Given the description of an element on the screen output the (x, y) to click on. 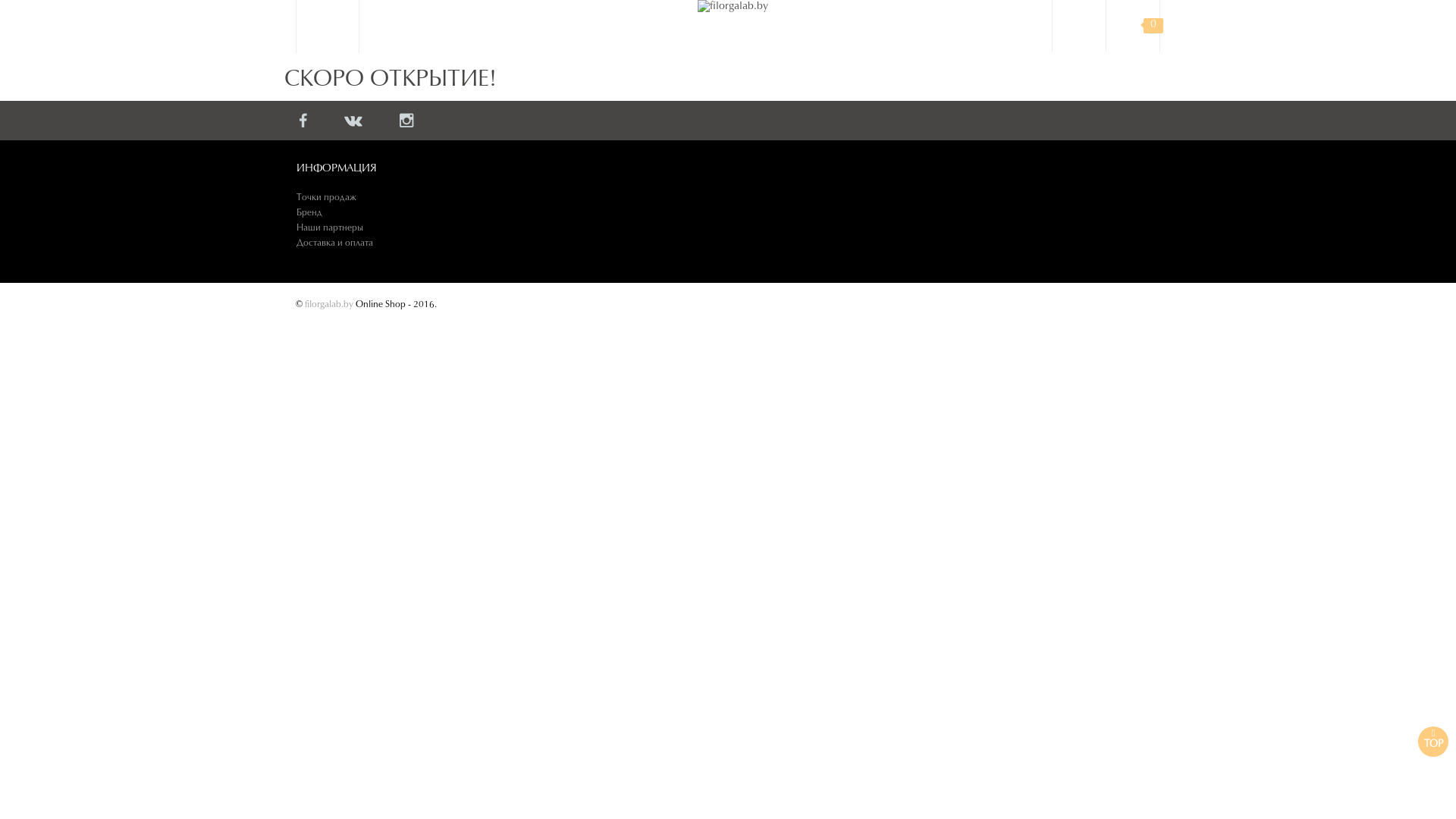
filorgalab.by Element type: text (328, 304)
TOP Element type: text (1433, 741)
0 Element type: text (1132, 25)
filorgalab.by Element type: hover (732, 7)
